Given the description of an element on the screen output the (x, y) to click on. 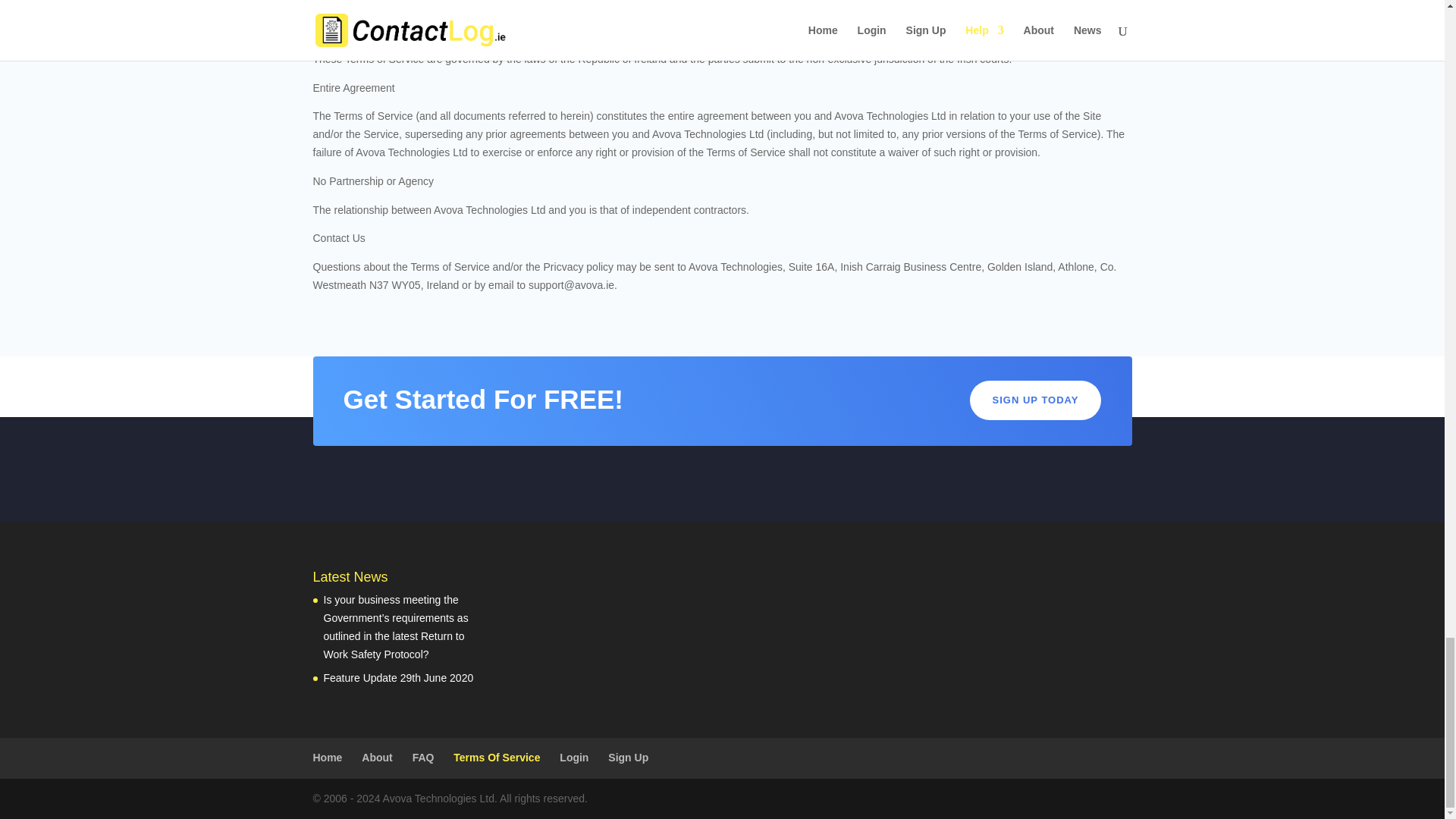
Terms Of Service (496, 757)
Login (573, 757)
About (376, 757)
Feature Update 29th June 2020 (398, 677)
Sign Up (627, 757)
Home (327, 757)
FAQ (422, 757)
SIGN UP TODAY (1035, 400)
